Given the description of an element on the screen output the (x, y) to click on. 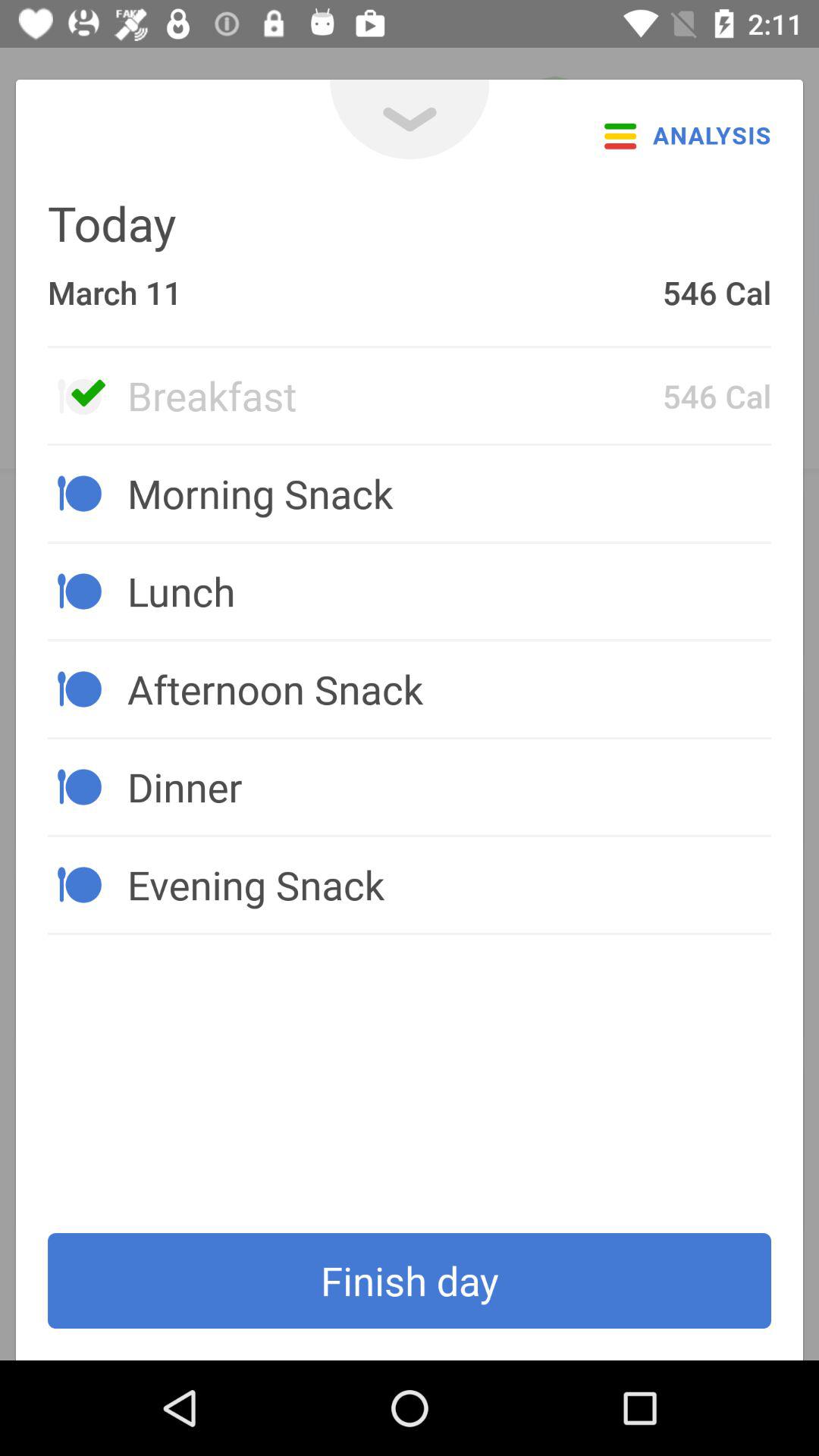
scroll to the evening snack item (449, 884)
